Given the description of an element on the screen output the (x, y) to click on. 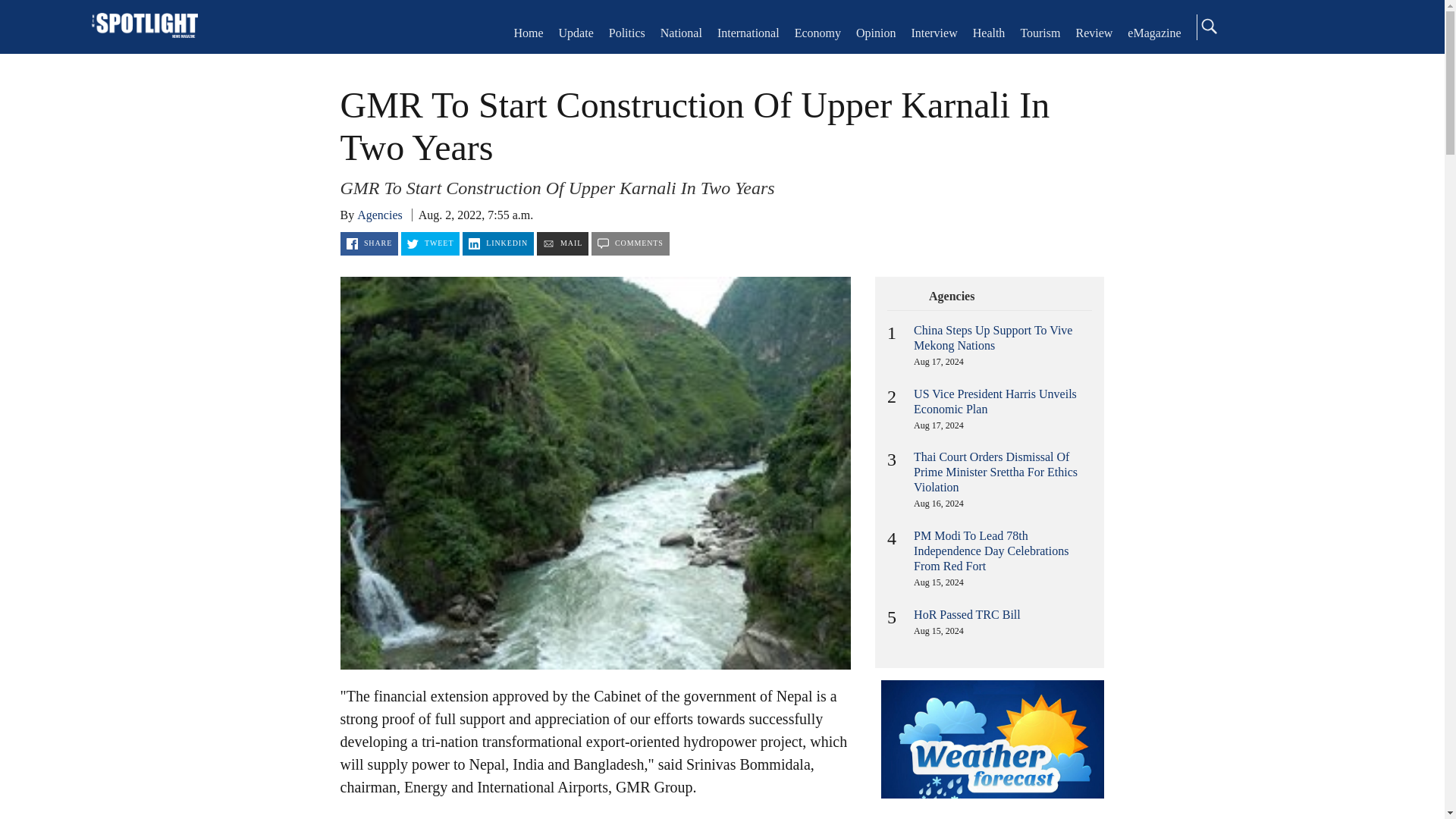
Home (528, 32)
COMMENTS (630, 243)
Comments (630, 243)
Review (1093, 32)
Agencies (379, 214)
US Vice President Harris Unveils Economic Plan (995, 401)
SHARE (368, 243)
Politics (626, 32)
